Given the description of an element on the screen output the (x, y) to click on. 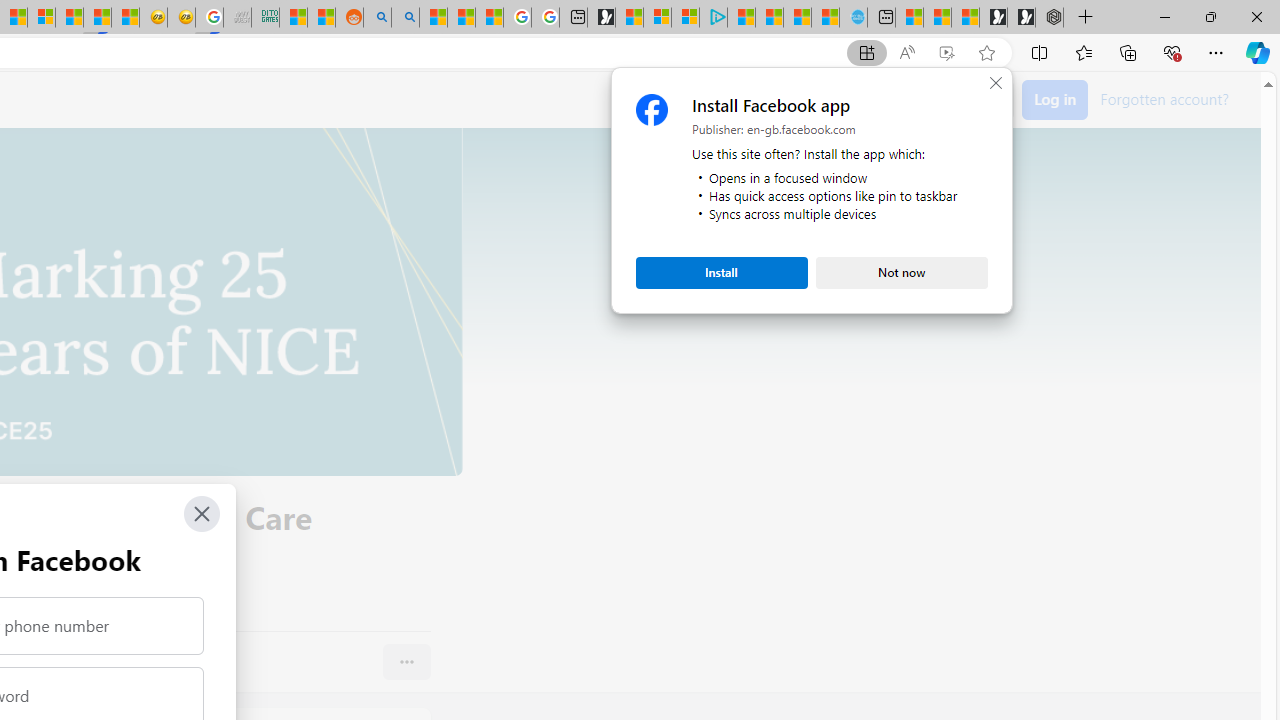
Install (721, 272)
